Given the description of an element on the screen output the (x, y) to click on. 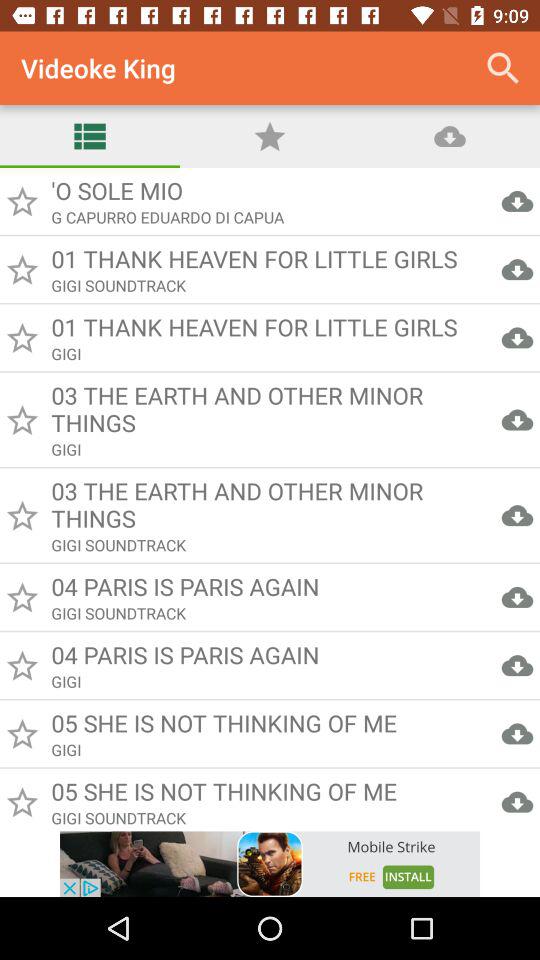
go to site (270, 864)
